Given the description of an element on the screen output the (x, y) to click on. 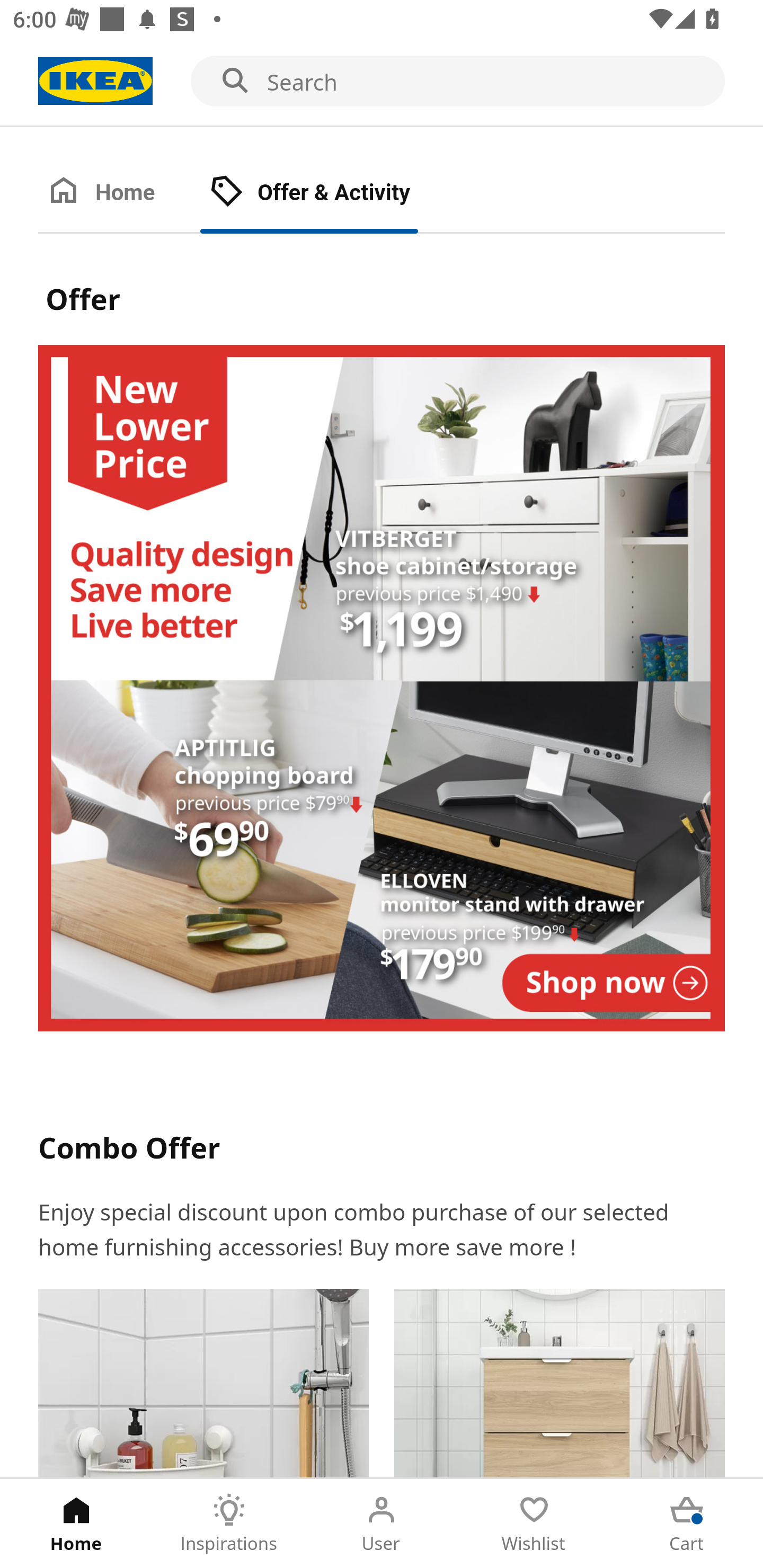
Search (381, 81)
Home
Tab 1 of 2 (118, 192)
Offer & Activity
Tab 2 of 2 (327, 192)
Home
Tab 1 of 5 (76, 1522)
Inspirations
Tab 2 of 5 (228, 1522)
User
Tab 3 of 5 (381, 1522)
Wishlist
Tab 4 of 5 (533, 1522)
Cart
Tab 5 of 5 (686, 1522)
